Given the description of an element on the screen output the (x, y) to click on. 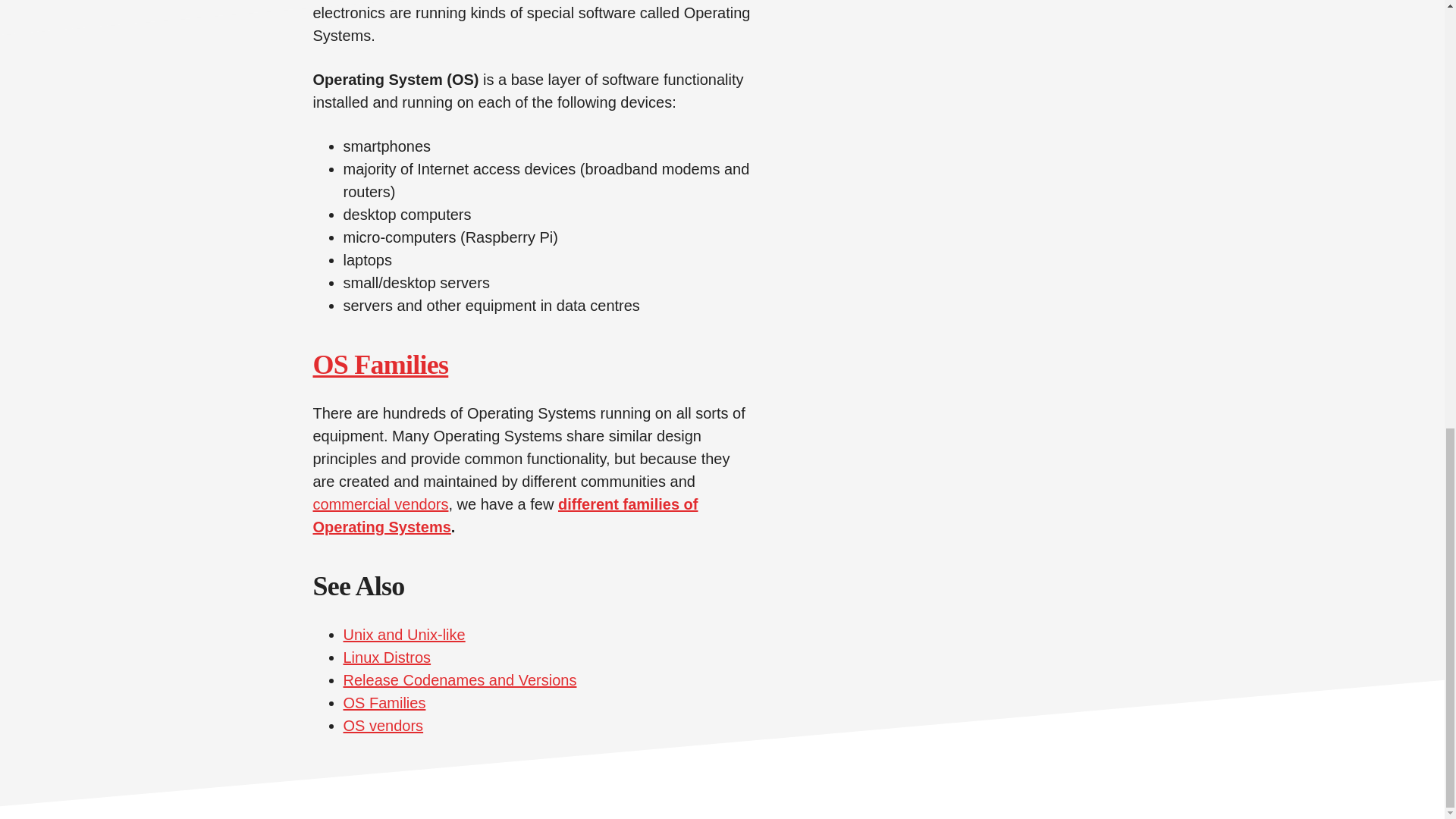
commercial vendors (380, 504)
OS Families (380, 364)
Unix and Unix-like (403, 634)
different families of Operating Systems (505, 515)
